Given the description of an element on the screen output the (x, y) to click on. 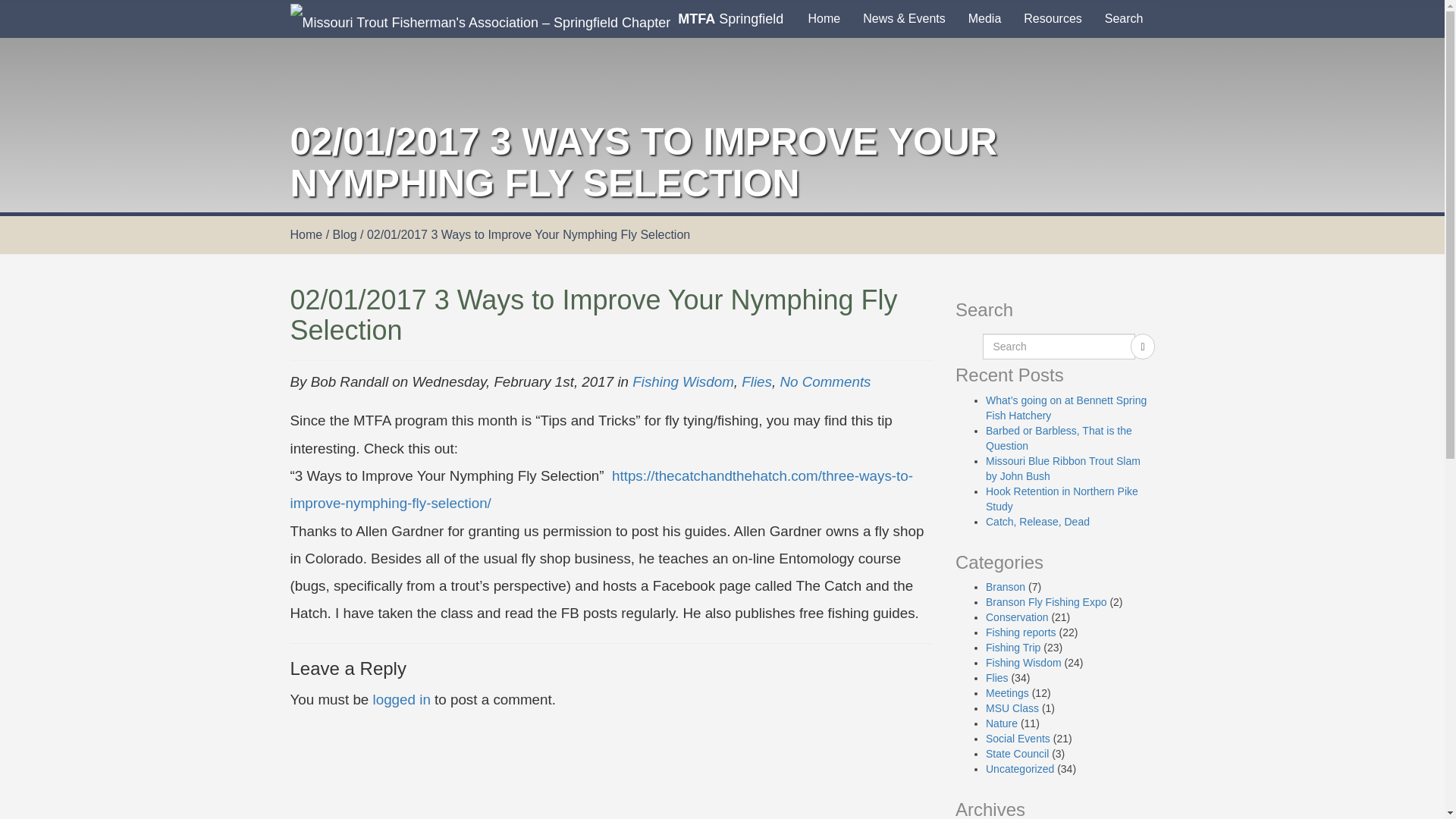
Home (823, 18)
Resources (1052, 18)
No Comments (824, 381)
Media (984, 18)
logged in (401, 699)
MTFA Springfield (536, 18)
Flies (756, 381)
Home (305, 234)
Search for: (1058, 346)
Search (1123, 18)
Blog (344, 234)
Fishing Wisdom (682, 381)
